Given the description of an element on the screen output the (x, y) to click on. 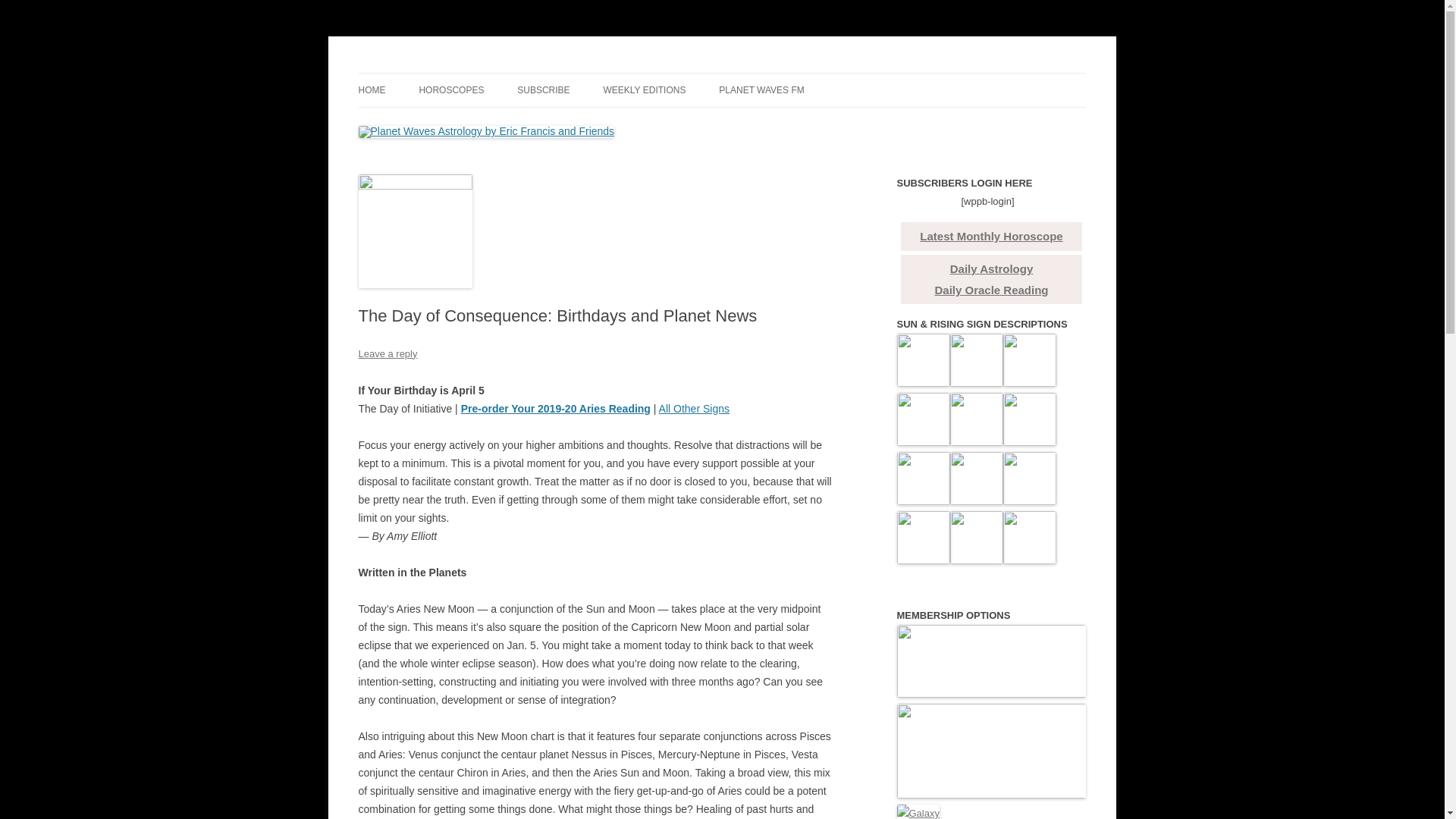
Planet Waves Astrology by Eric Francis and Friends (601, 72)
All Other Signs (694, 408)
HOROSCOPES (451, 90)
READINGS (433, 122)
WEEKLY EDITIONS (644, 90)
PLANET WAVES FM (761, 90)
Pre-order Your 2019-20 Aries Reading (555, 408)
Leave a reply (387, 353)
SUBSCRIBE (542, 90)
